Given the description of an element on the screen output the (x, y) to click on. 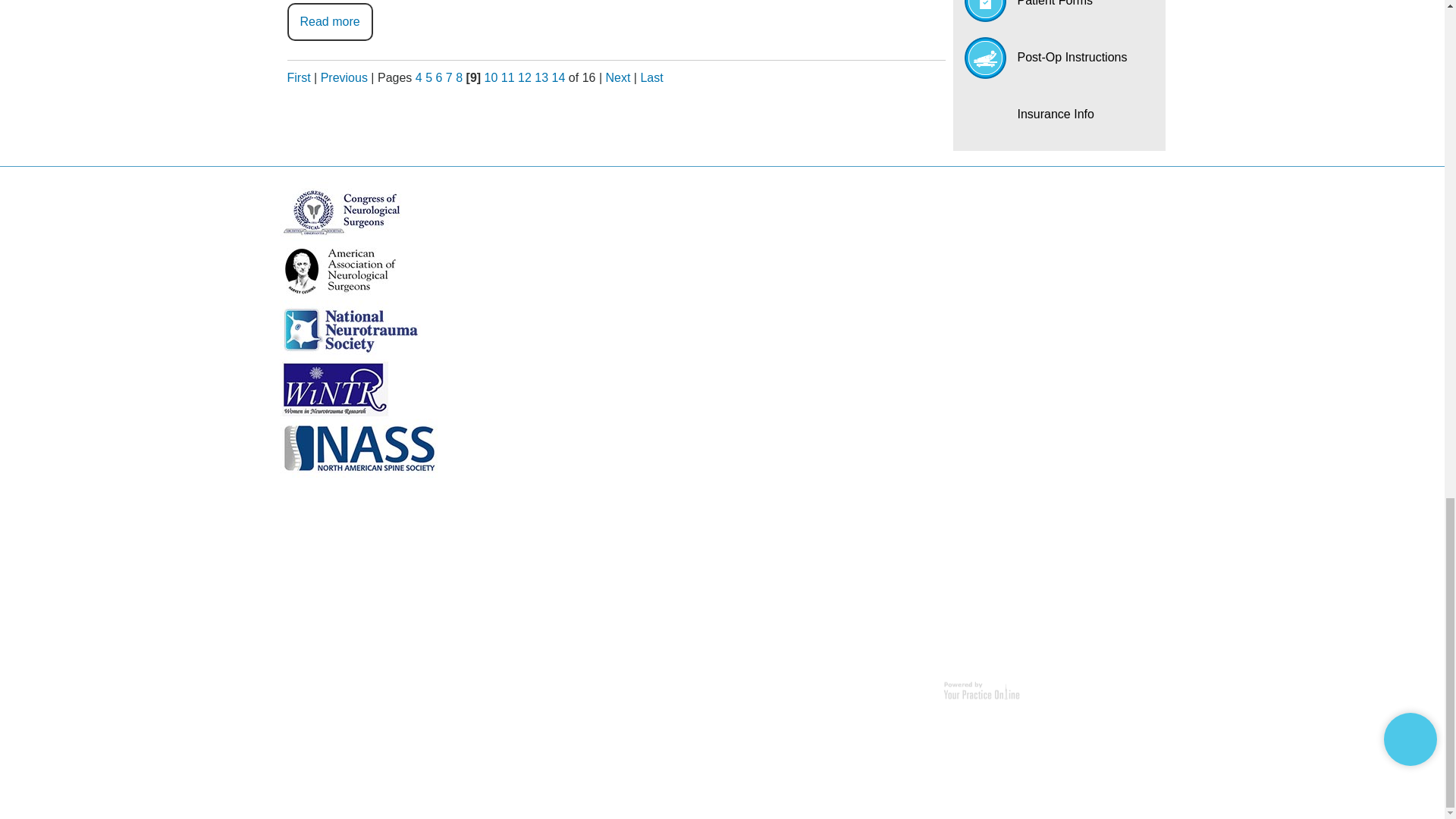
Page 12 (524, 77)
Page 11 (507, 77)
Previous Page (344, 77)
Next Page (617, 77)
Page 14 (558, 77)
Page 13 (541, 77)
Page 10 (490, 77)
Last Page (651, 77)
First Page (298, 77)
